Given the description of an element on the screen output the (x, y) to click on. 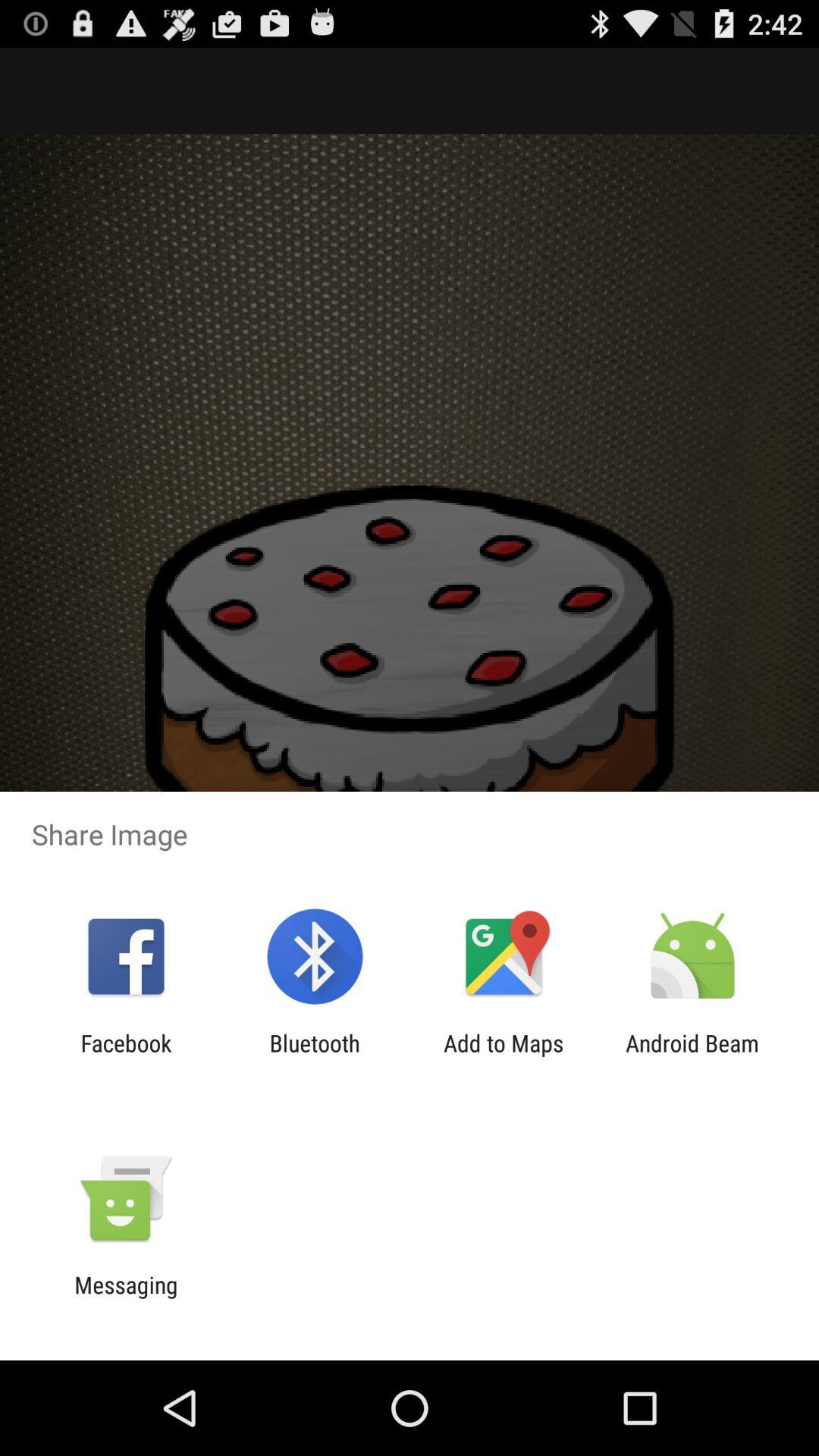
jump until the facebook item (125, 1056)
